Given the description of an element on the screen output the (x, y) to click on. 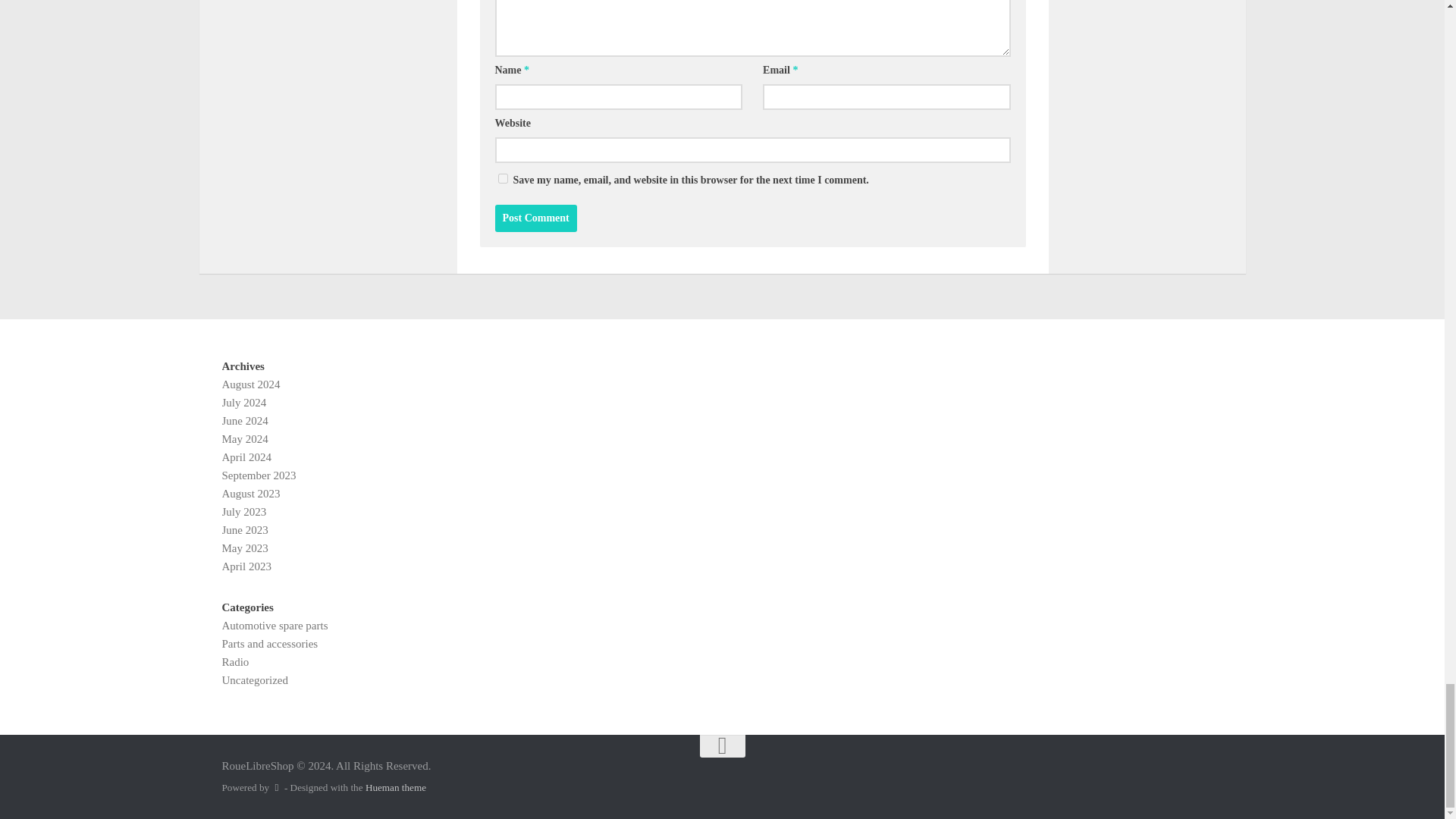
yes (501, 178)
Powered by WordPress (275, 787)
Post Comment (535, 217)
Hueman theme (395, 787)
Post Comment (535, 217)
